Given the description of an element on the screen output the (x, y) to click on. 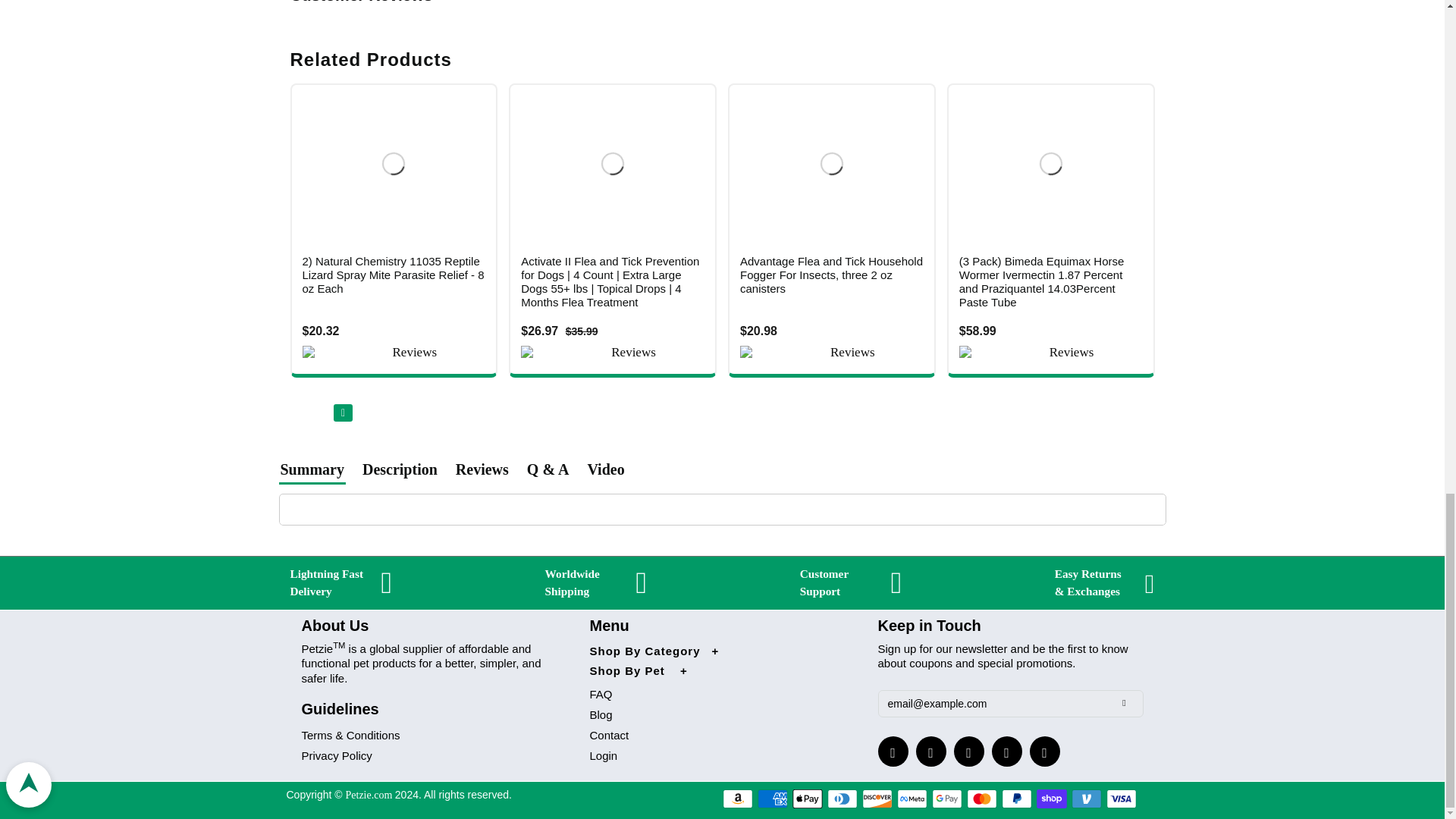
American Express (772, 798)
Mastercard (981, 798)
Google Pay (946, 798)
Visa (1121, 798)
Discover (876, 798)
Shop Pay (1051, 798)
PayPal (1016, 798)
Amazon (737, 798)
Meta Pay (911, 798)
Diners Club (842, 798)
Venmo (1086, 798)
Apple Pay (807, 798)
